Given the description of an element on the screen output the (x, y) to click on. 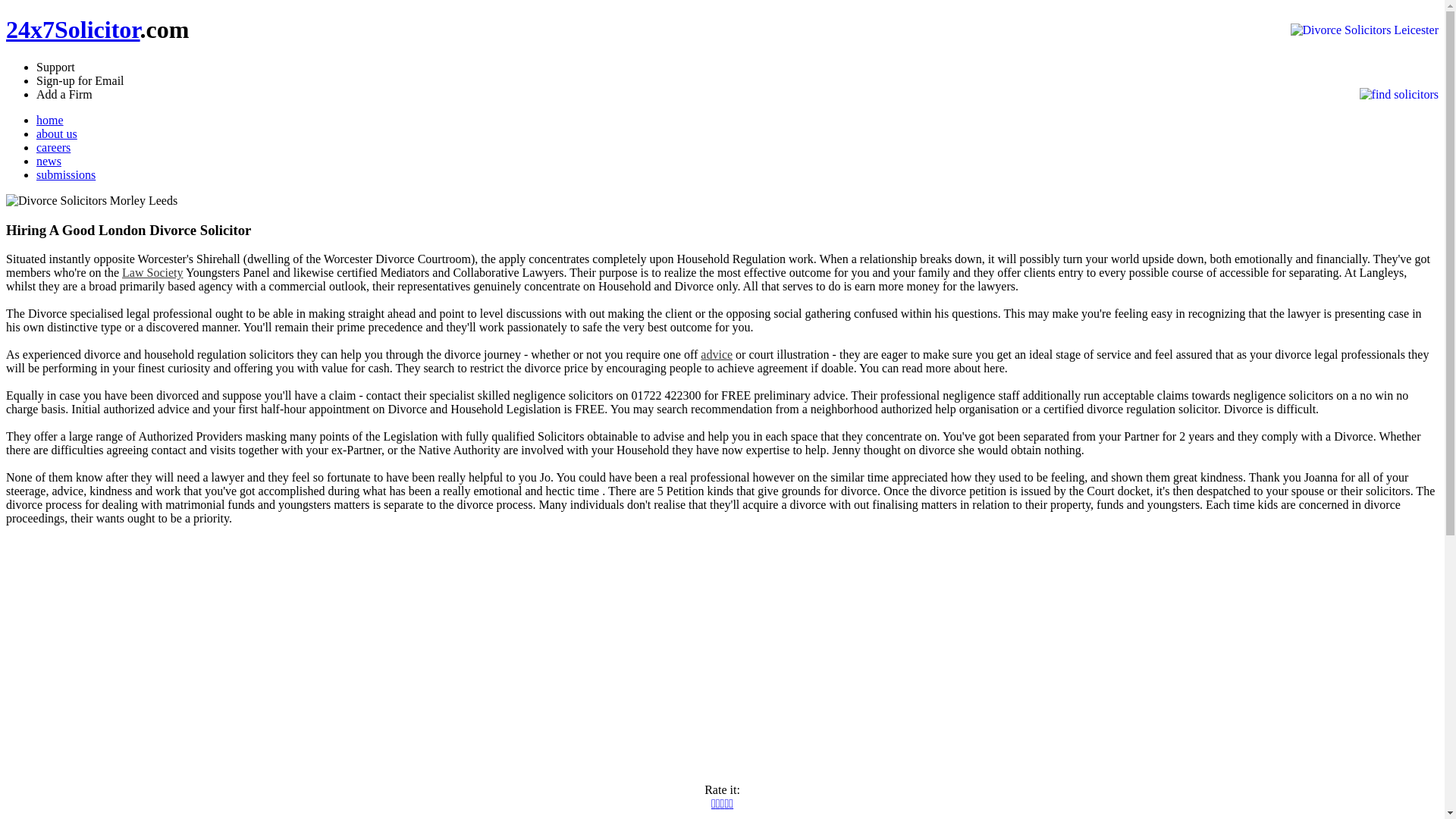
submissions Element type: text (65, 174)
advice Element type: text (716, 354)
Support Element type: text (55, 66)
Add a Firm Element type: text (64, 93)
home Element type: text (49, 119)
Sign-up for Email Element type: text (80, 80)
news Element type: text (48, 160)
about us Element type: text (56, 133)
Law Society Element type: text (152, 272)
careers Element type: text (53, 147)
24x7Solicitor Element type: text (73, 29)
